Given the description of an element on the screen output the (x, y) to click on. 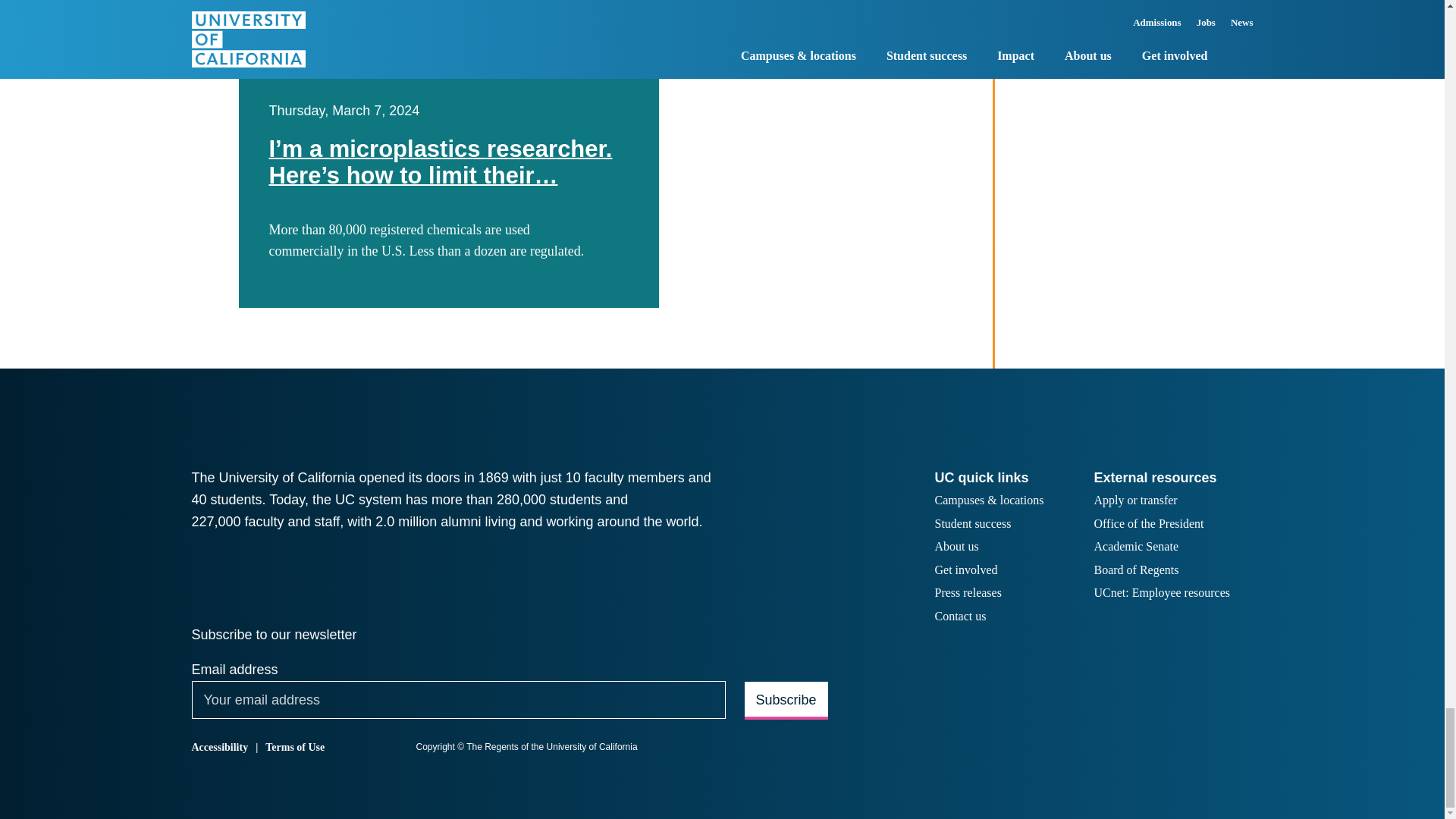
Tracey Woodruff (824, 65)
Board of Regents (1135, 571)
Traumatic brain injury (562, 43)
Academic Senate (1135, 547)
Office of the President (1148, 525)
